Given the description of an element on the screen output the (x, y) to click on. 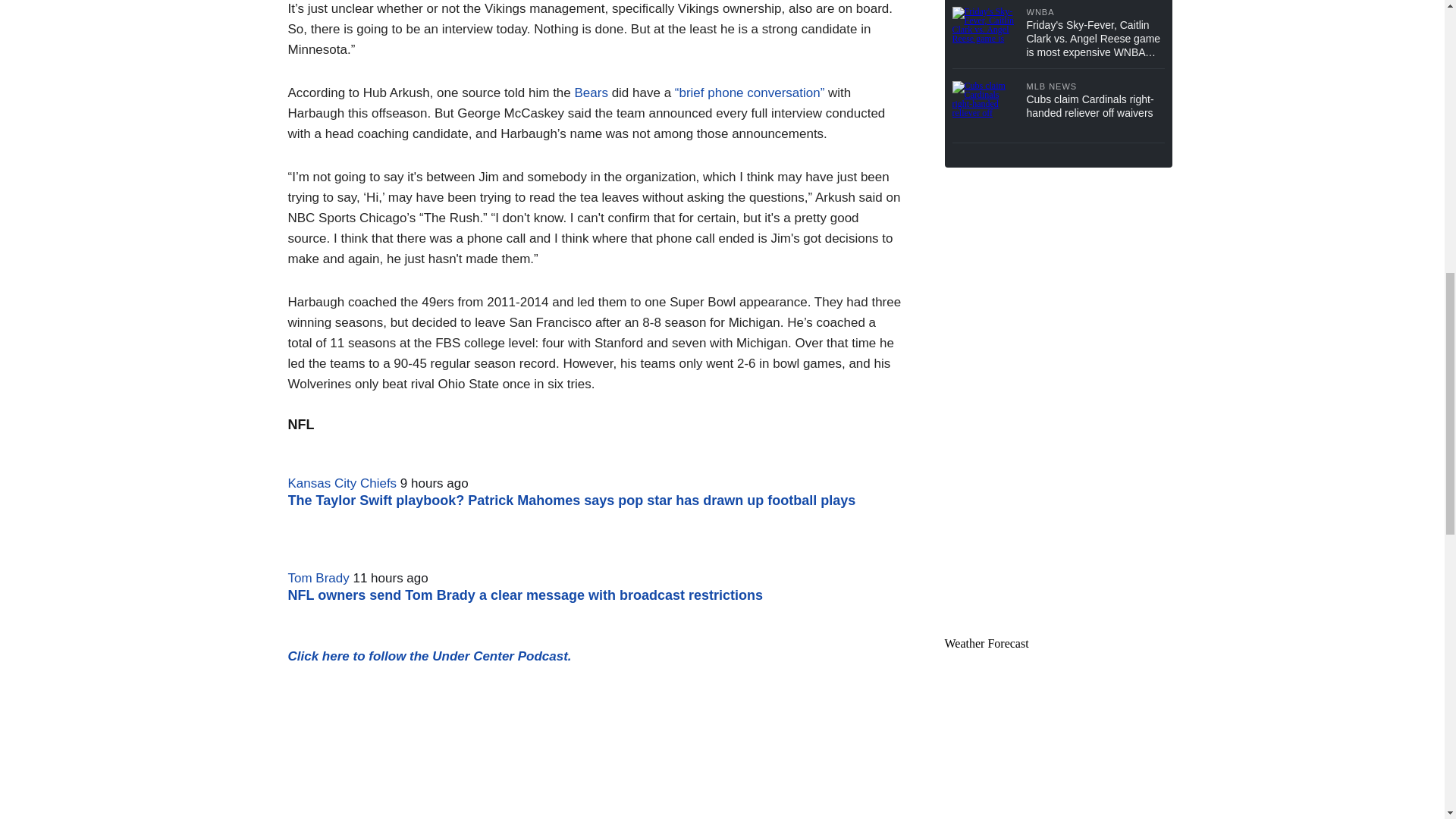
Click here to follow the Under Center Podcast. (430, 656)
Tom Brady (318, 577)
Bears (590, 92)
Kansas City Chiefs (342, 482)
